Given the description of an element on the screen output the (x, y) to click on. 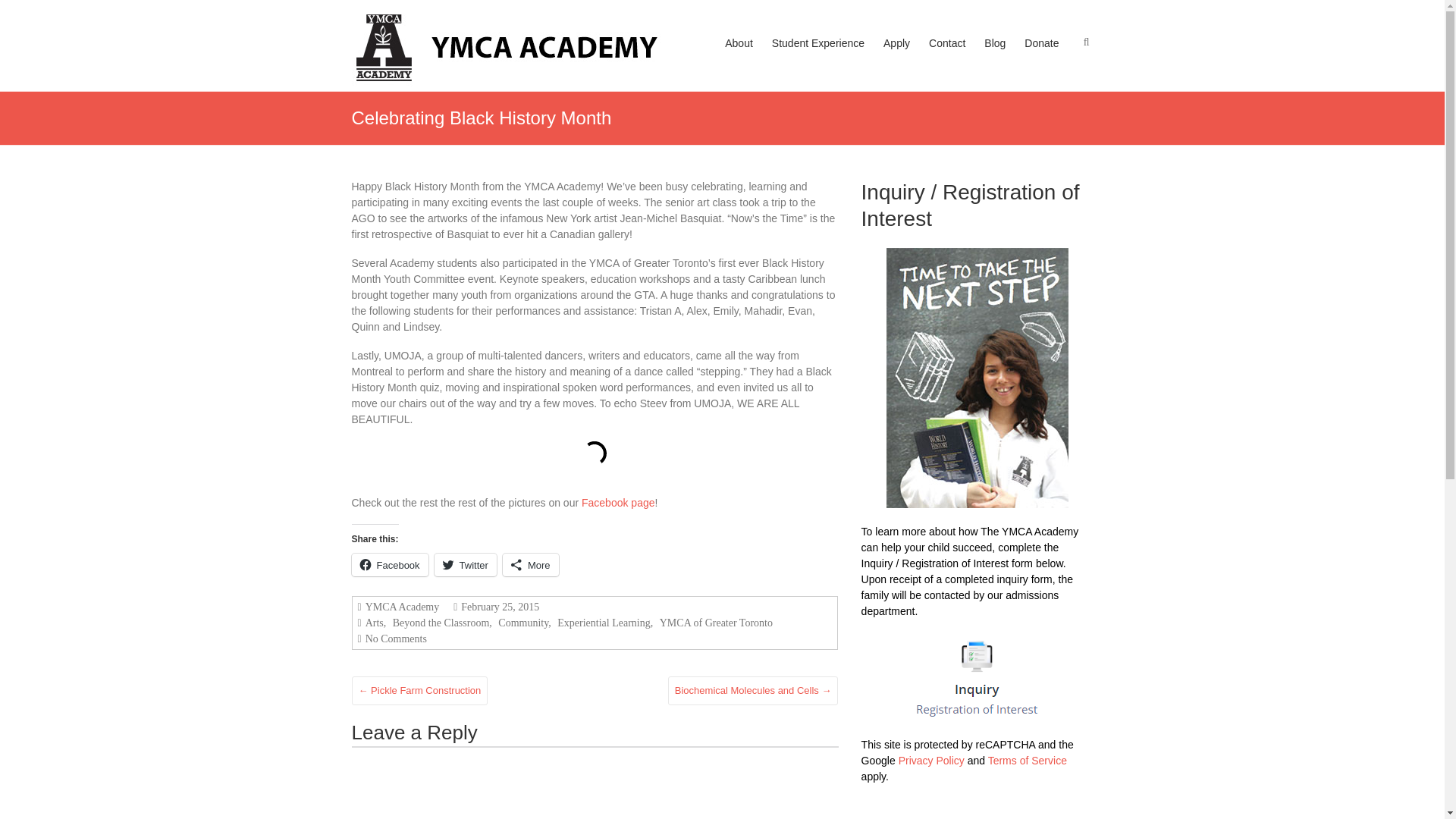
Comment Form (595, 782)
Facebook page (617, 502)
Click to share on Facebook (390, 564)
Twitter (464, 564)
YMCA Academy (413, 35)
Student Experience (817, 57)
Click to share on Twitter (464, 564)
3:16 pm (497, 606)
YMCA Academy (413, 35)
More (530, 564)
